Given the description of an element on the screen output the (x, y) to click on. 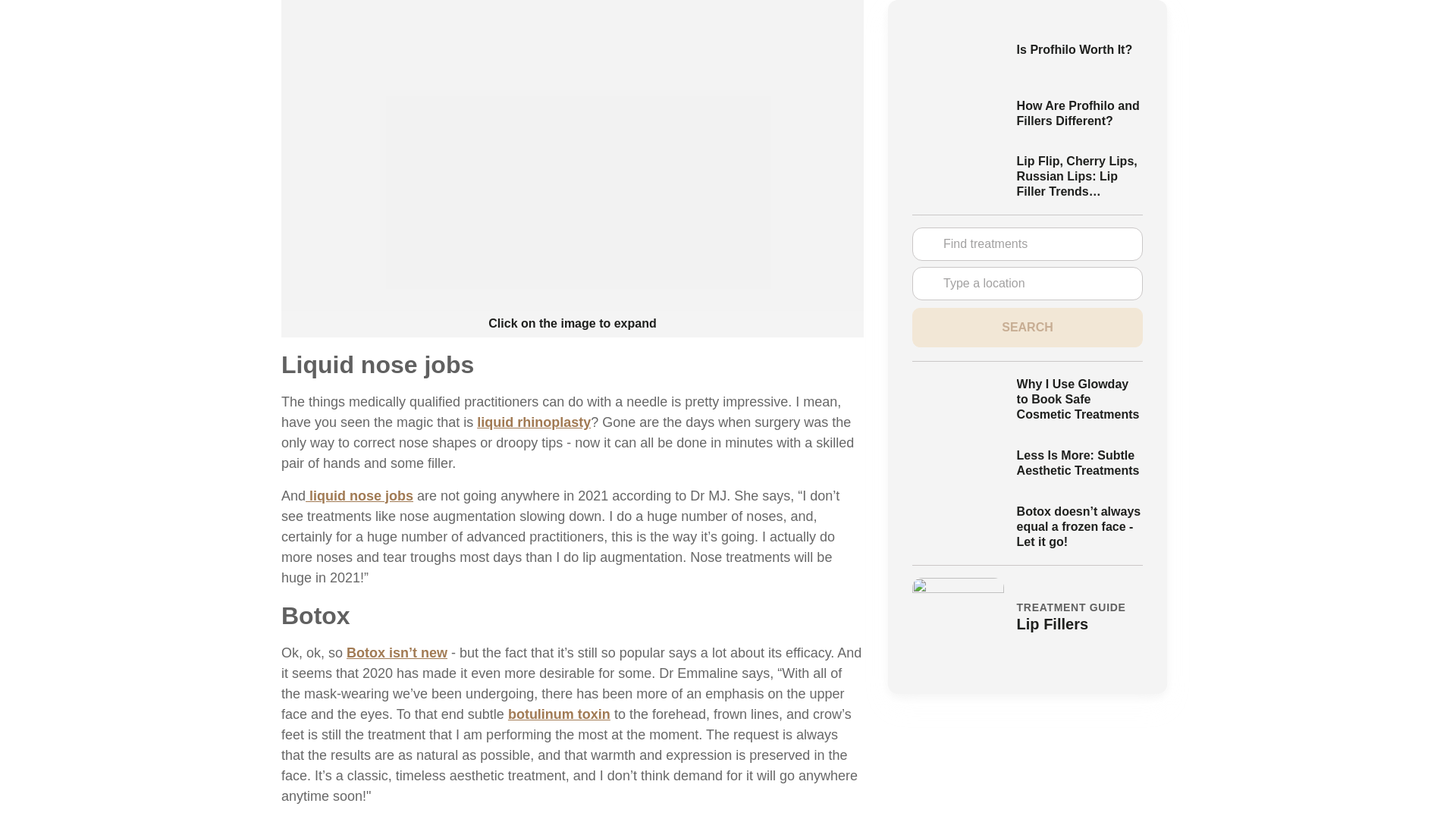
liquid rhinoplasty (534, 421)
botulinum toxin (559, 713)
liquid nose jobs (359, 495)
